Given the description of an element on the screen output the (x, y) to click on. 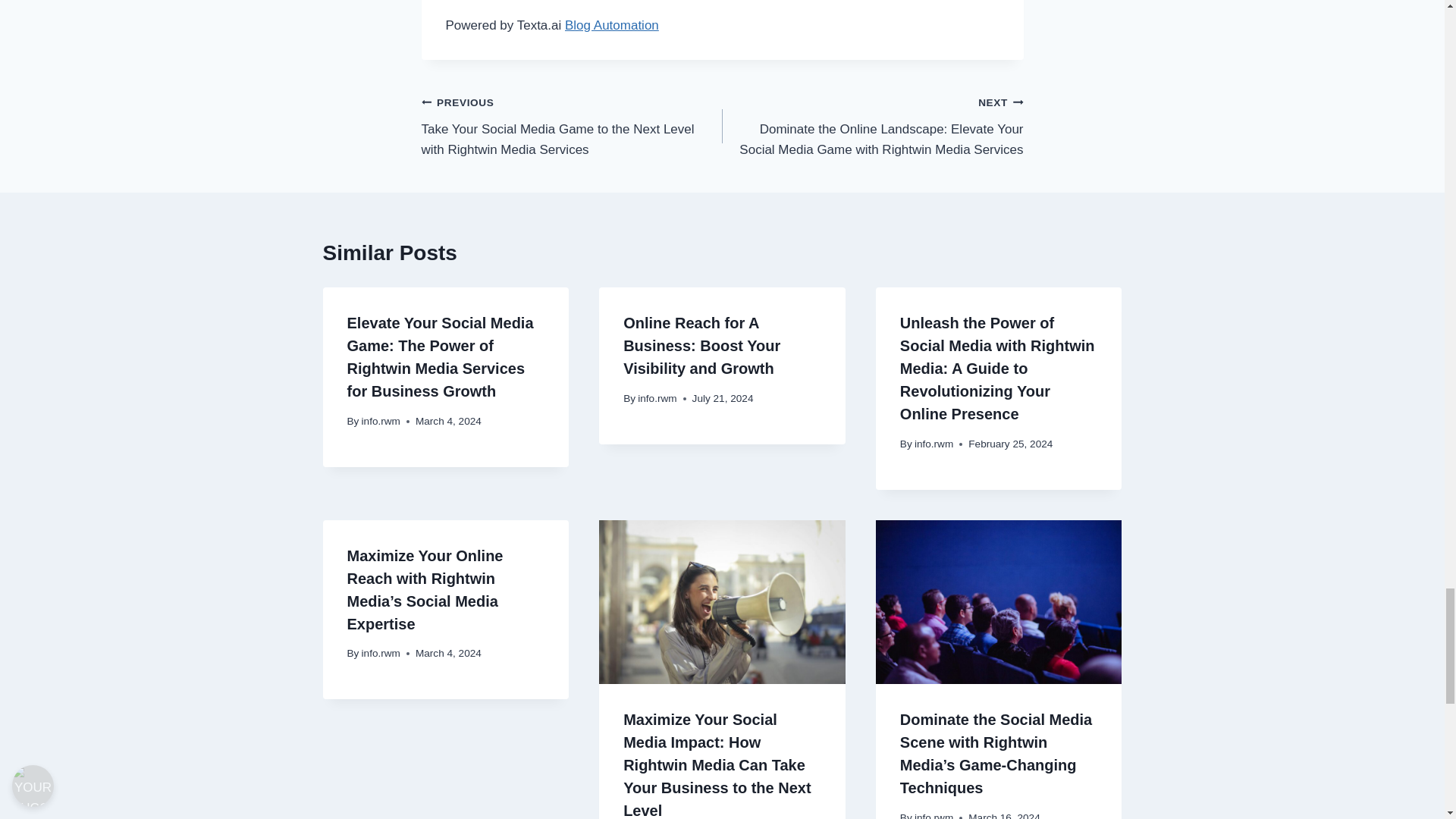
Blog Automation (611, 25)
info.rwm (933, 443)
info.rwm (380, 653)
info.rwm (657, 398)
info.rwm (380, 420)
